Given the description of an element on the screen output the (x, y) to click on. 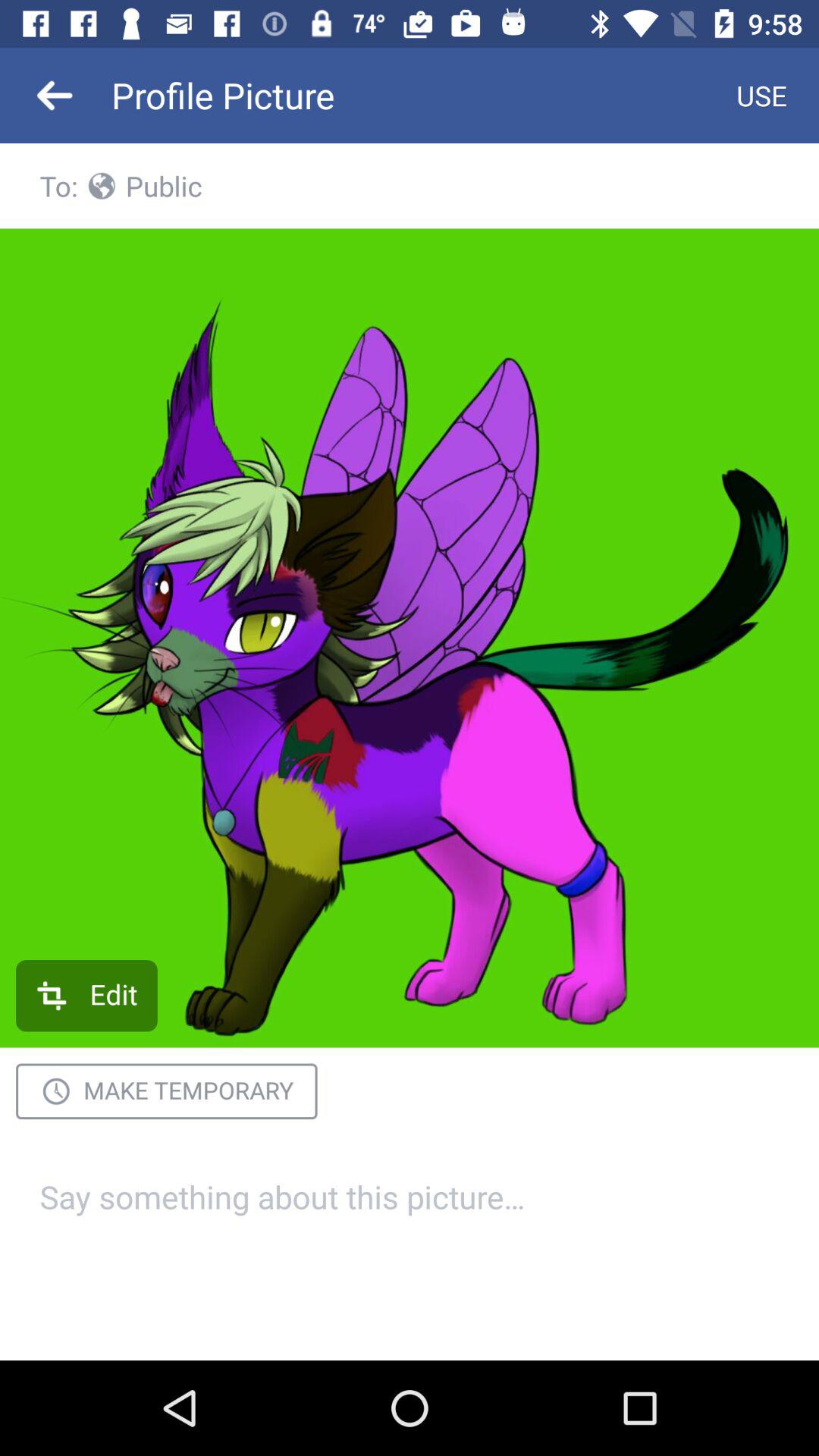
flip to use (761, 95)
